Given the description of an element on the screen output the (x, y) to click on. 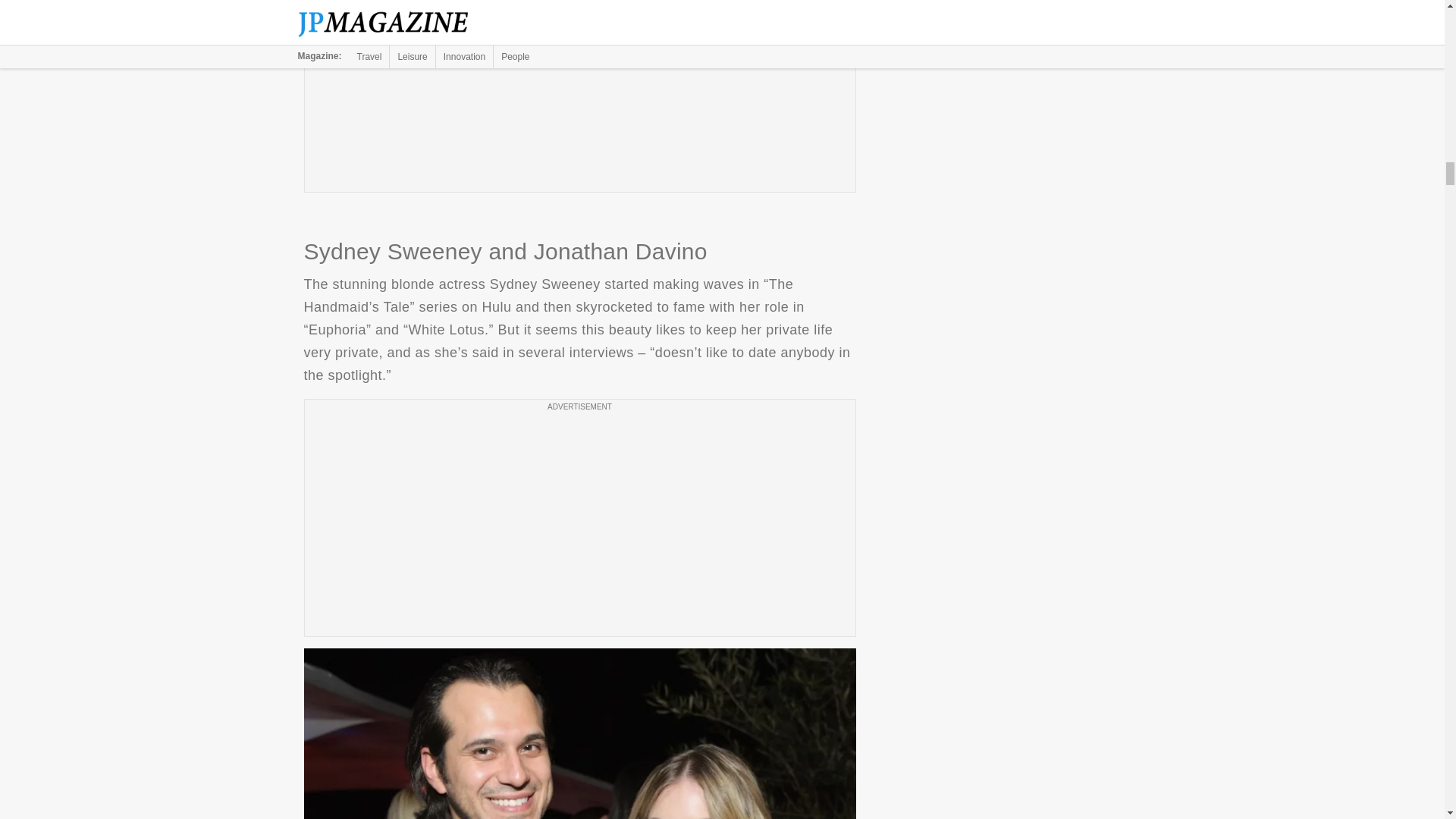
Sydney Sweeney and Jonathan Davino (579, 733)
